Given the description of an element on the screen output the (x, y) to click on. 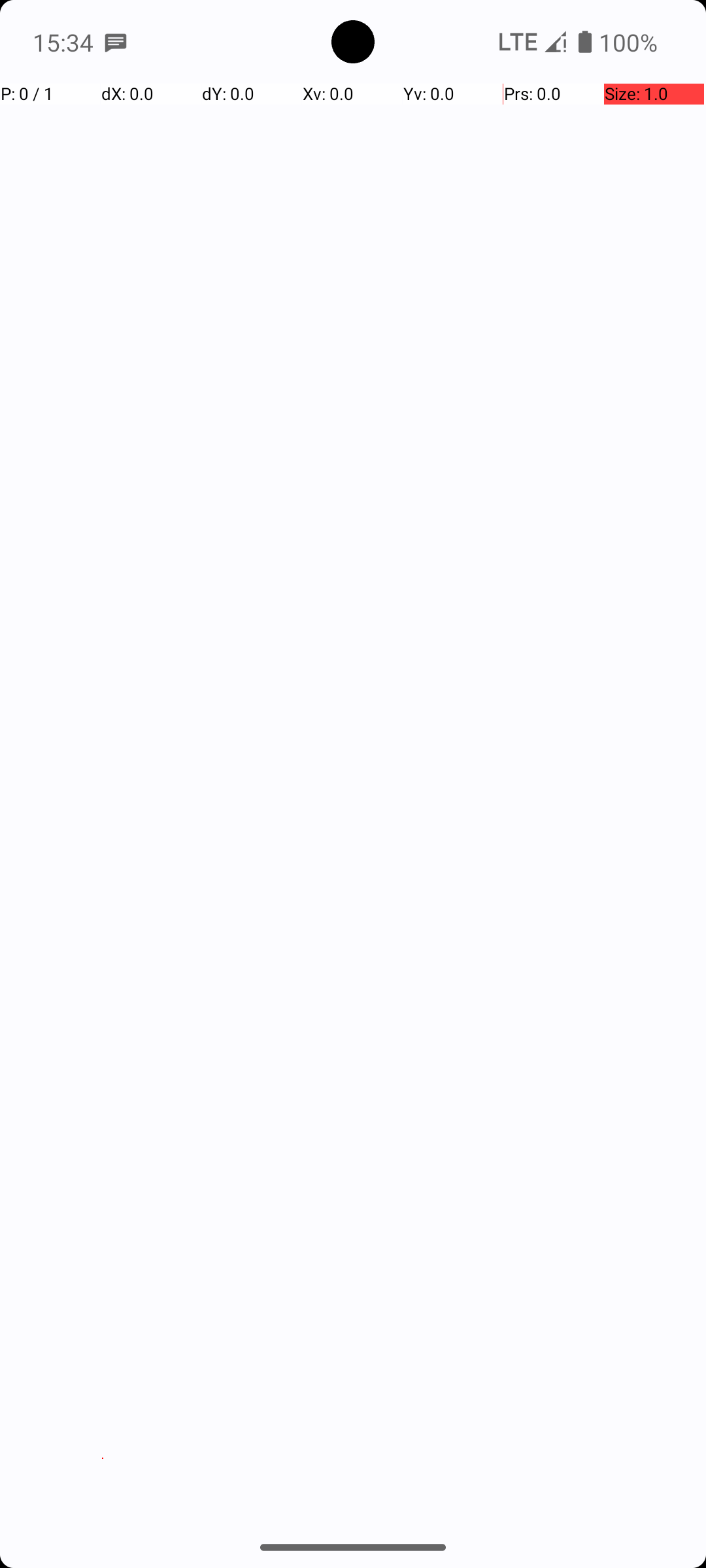
SMS Messenger notification: +15505050843 Element type: android.widget.ImageView (115, 41)
